Given the description of an element on the screen output the (x, y) to click on. 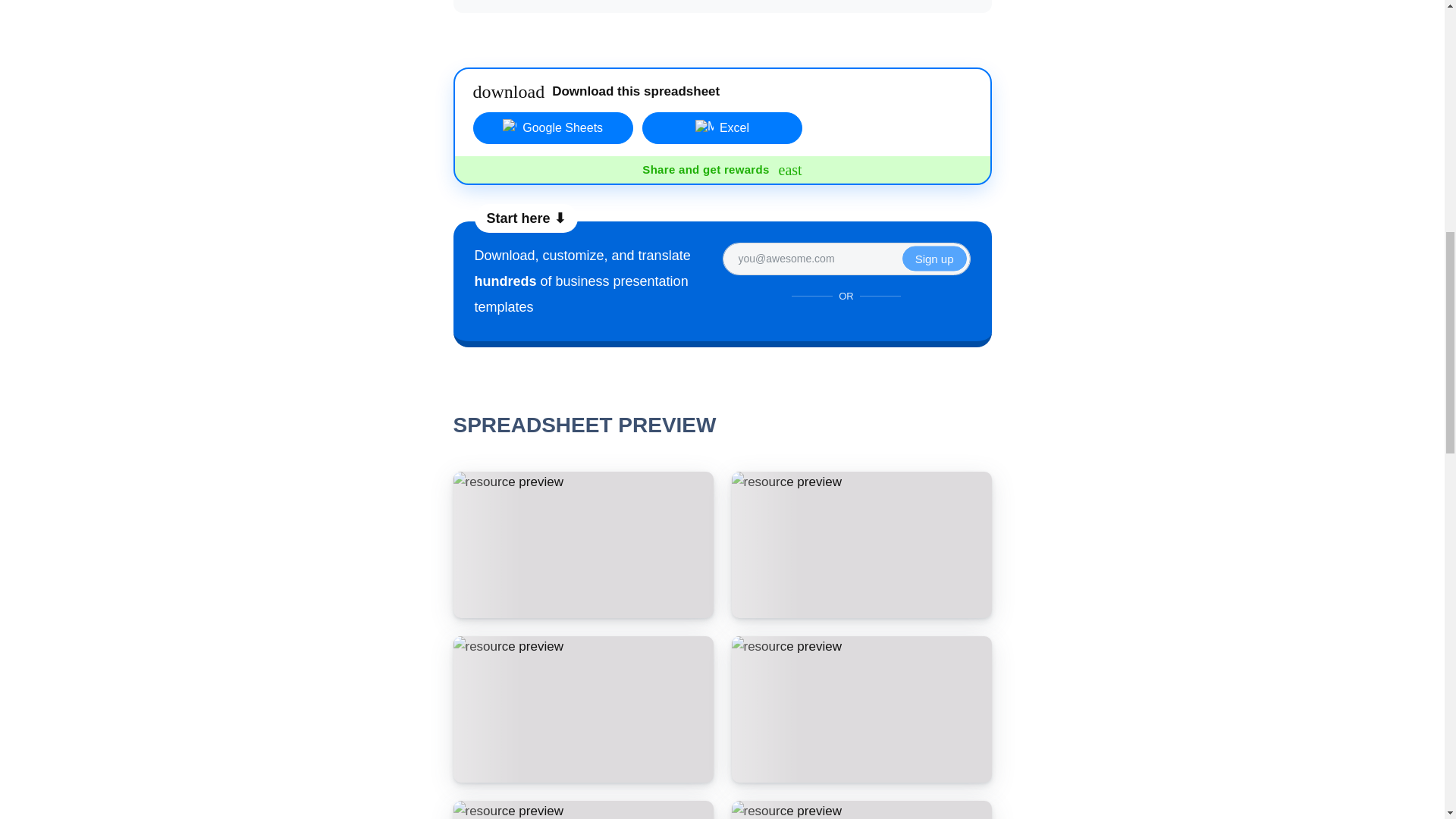
Excel (722, 128)
Sign up (934, 258)
Google Sheets (722, 169)
